Given the description of an element on the screen output the (x, y) to click on. 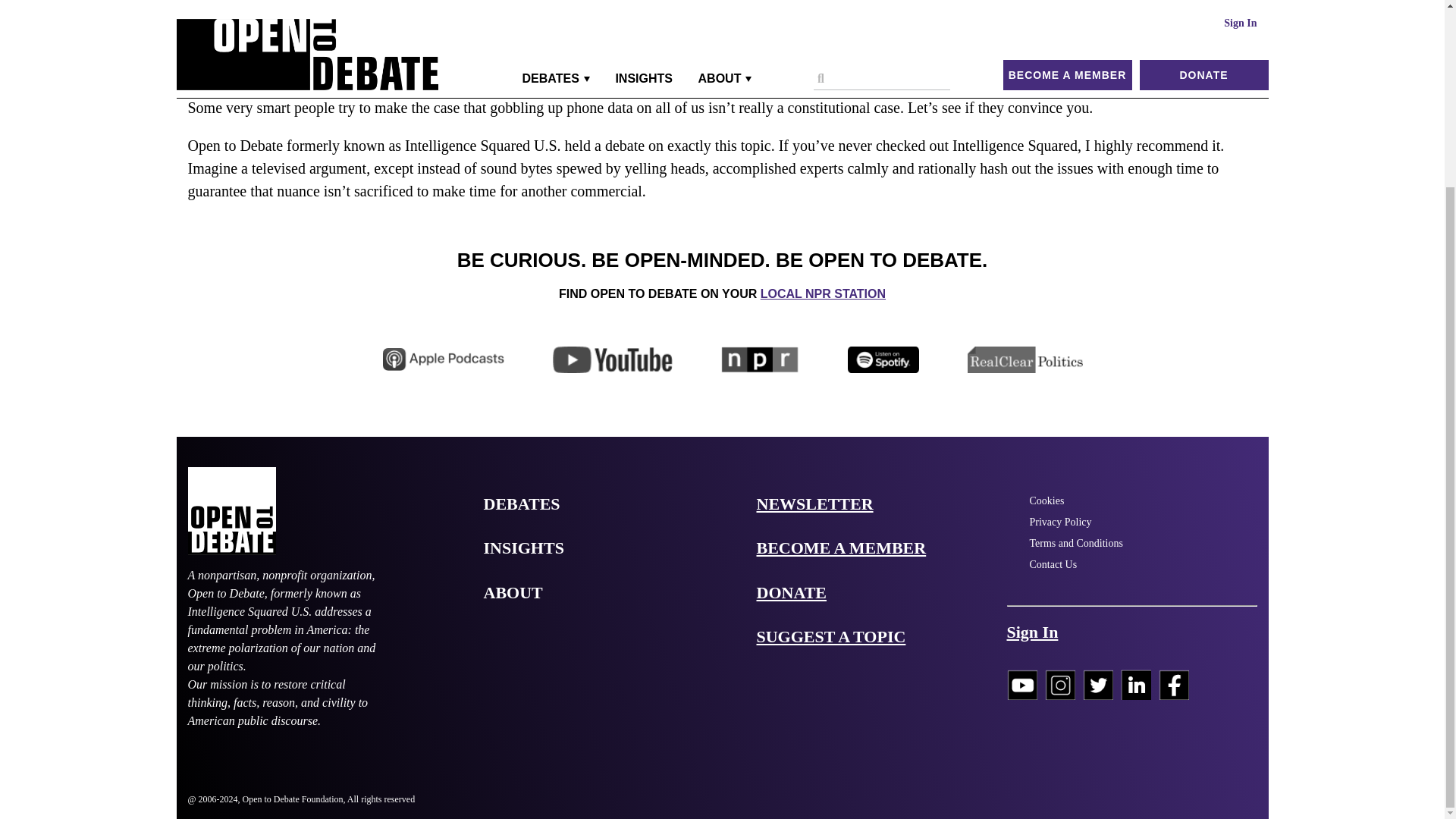
Members Area Login (1032, 631)
Email a friend (577, 32)
npr (759, 359)
spotify (882, 359)
politics (1026, 359)
youtube (612, 359)
apple (442, 359)
